Given the description of an element on the screen output the (x, y) to click on. 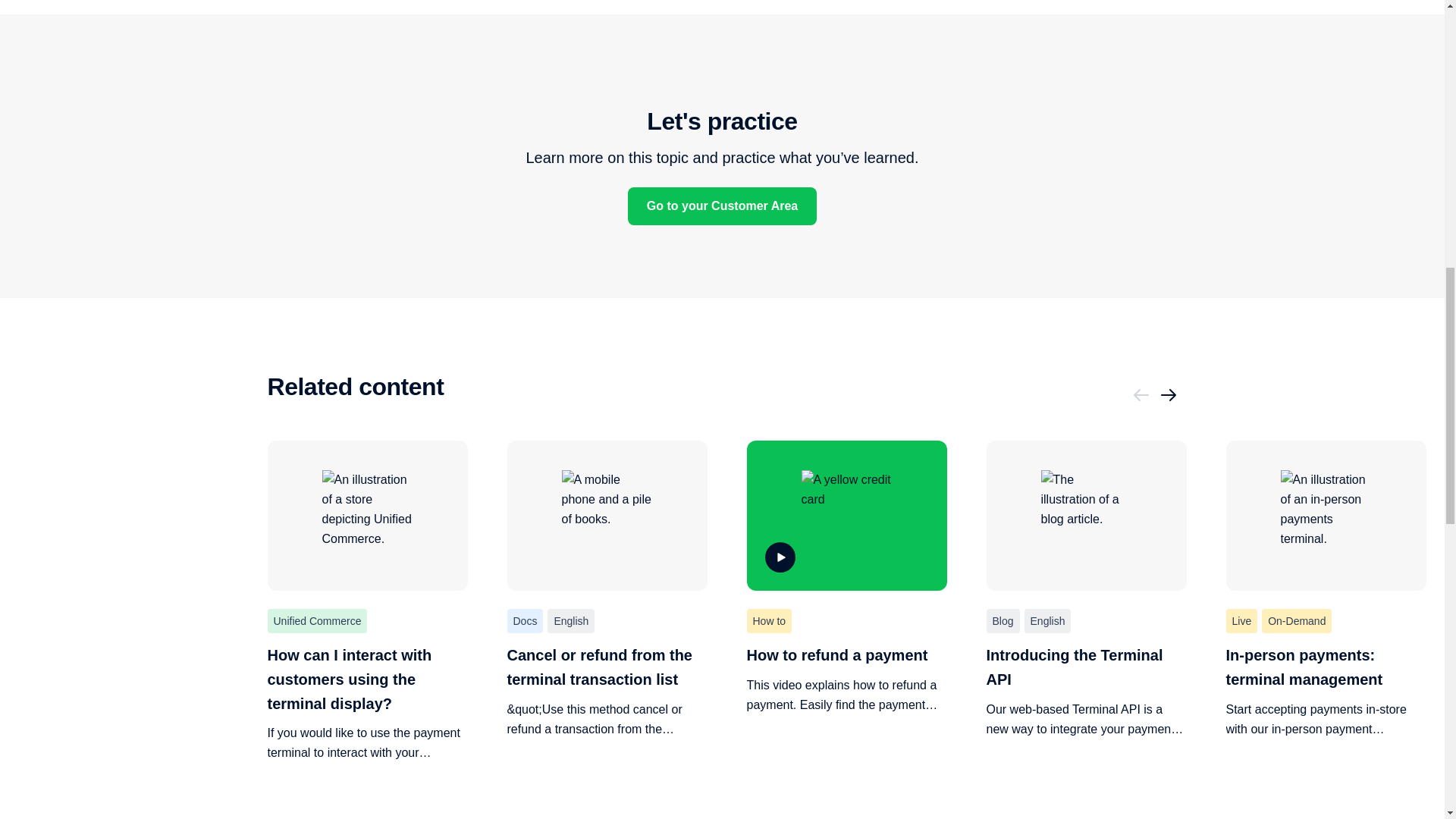
Go to your Customer Area (721, 206)
